Given the description of an element on the screen output the (x, y) to click on. 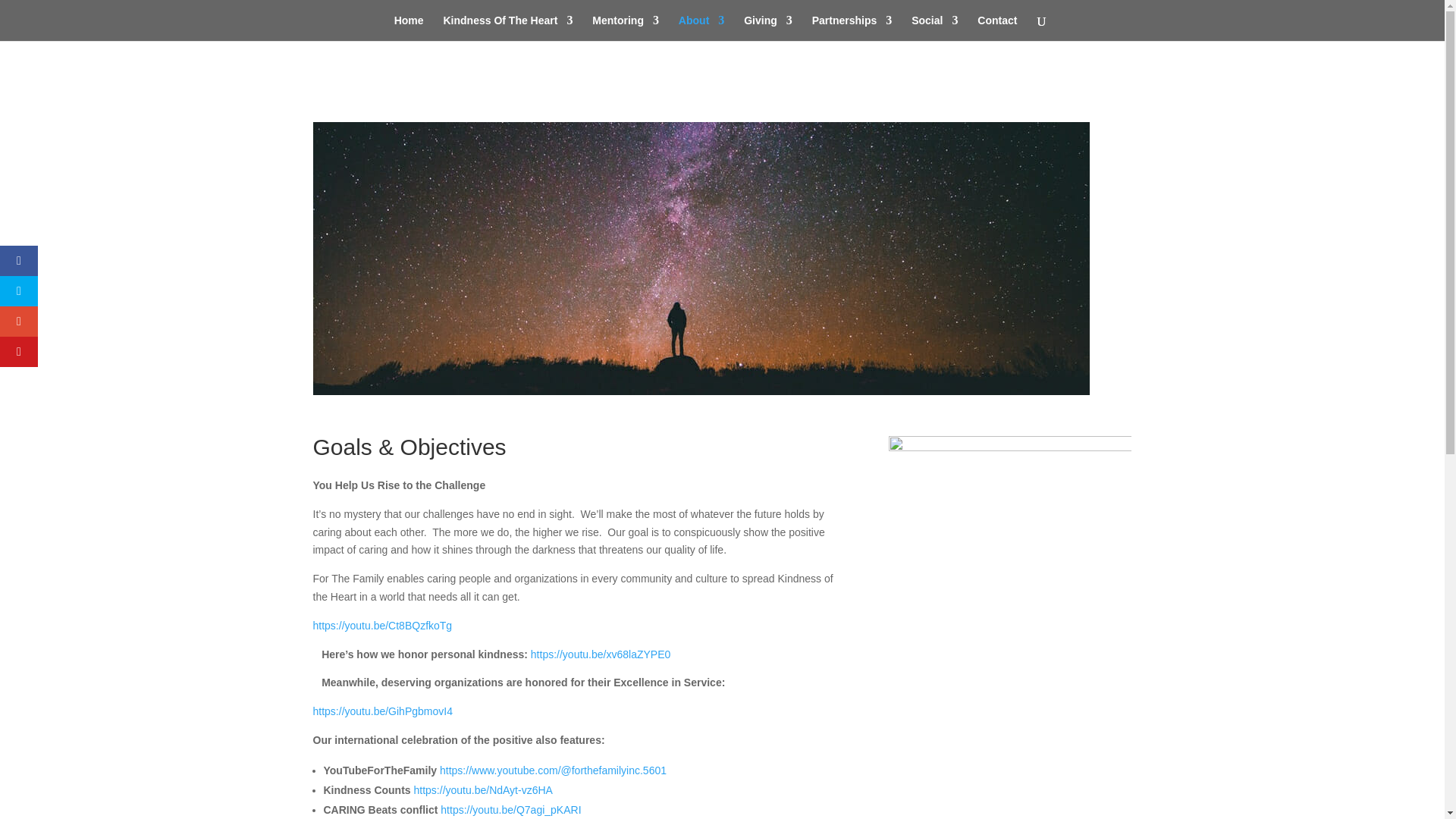
Kindness Of The Heart (507, 27)
Mentoring (625, 27)
Home (408, 27)
Partnerships (852, 27)
Social (934, 27)
About (700, 27)
Contact (996, 27)
Giving (768, 27)
